Given the description of an element on the screen output the (x, y) to click on. 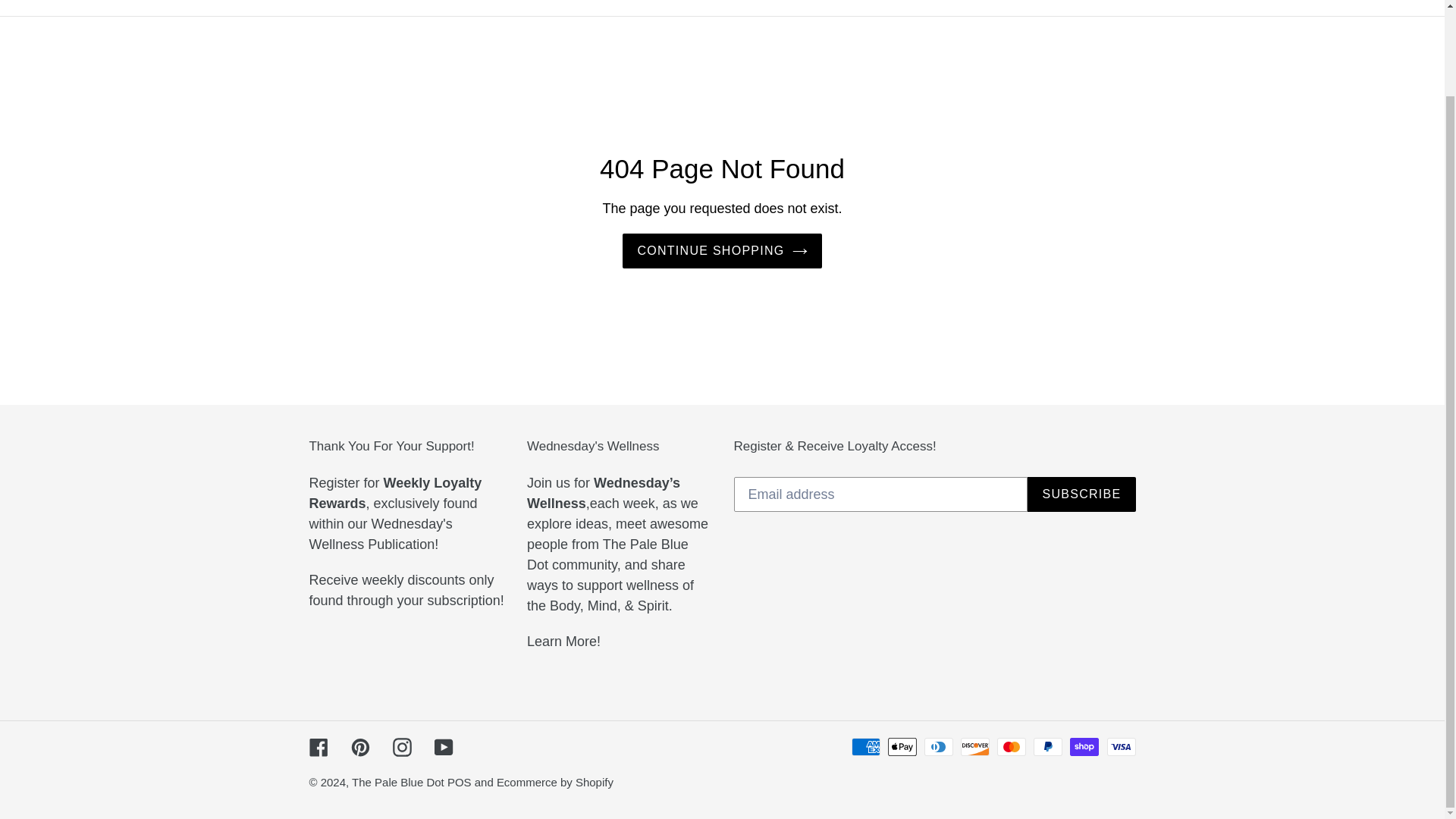
Wednesday's Wellness (563, 641)
